Given the description of an element on the screen output the (x, y) to click on. 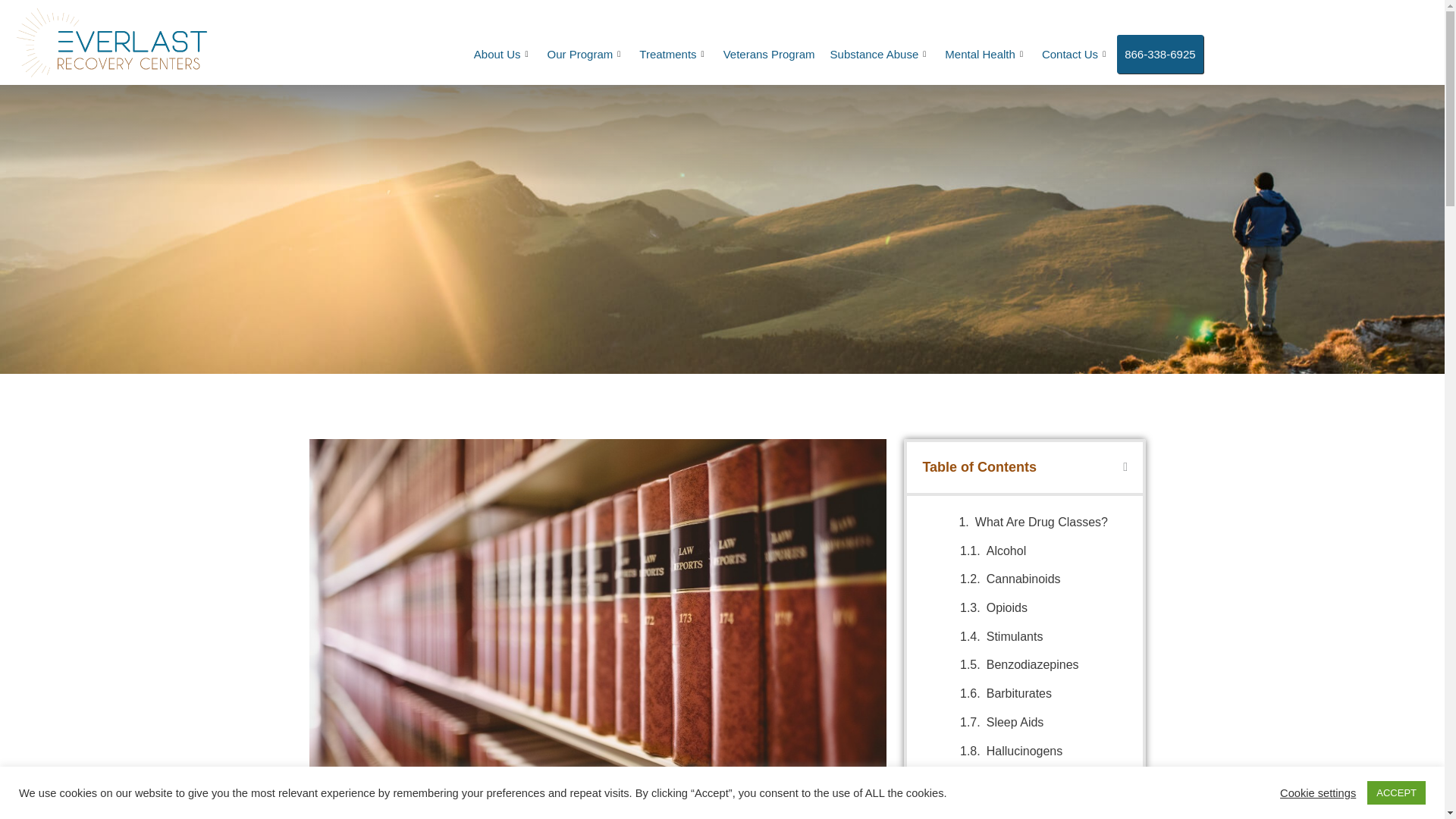
About Us (502, 54)
